Given the description of an element on the screen output the (x, y) to click on. 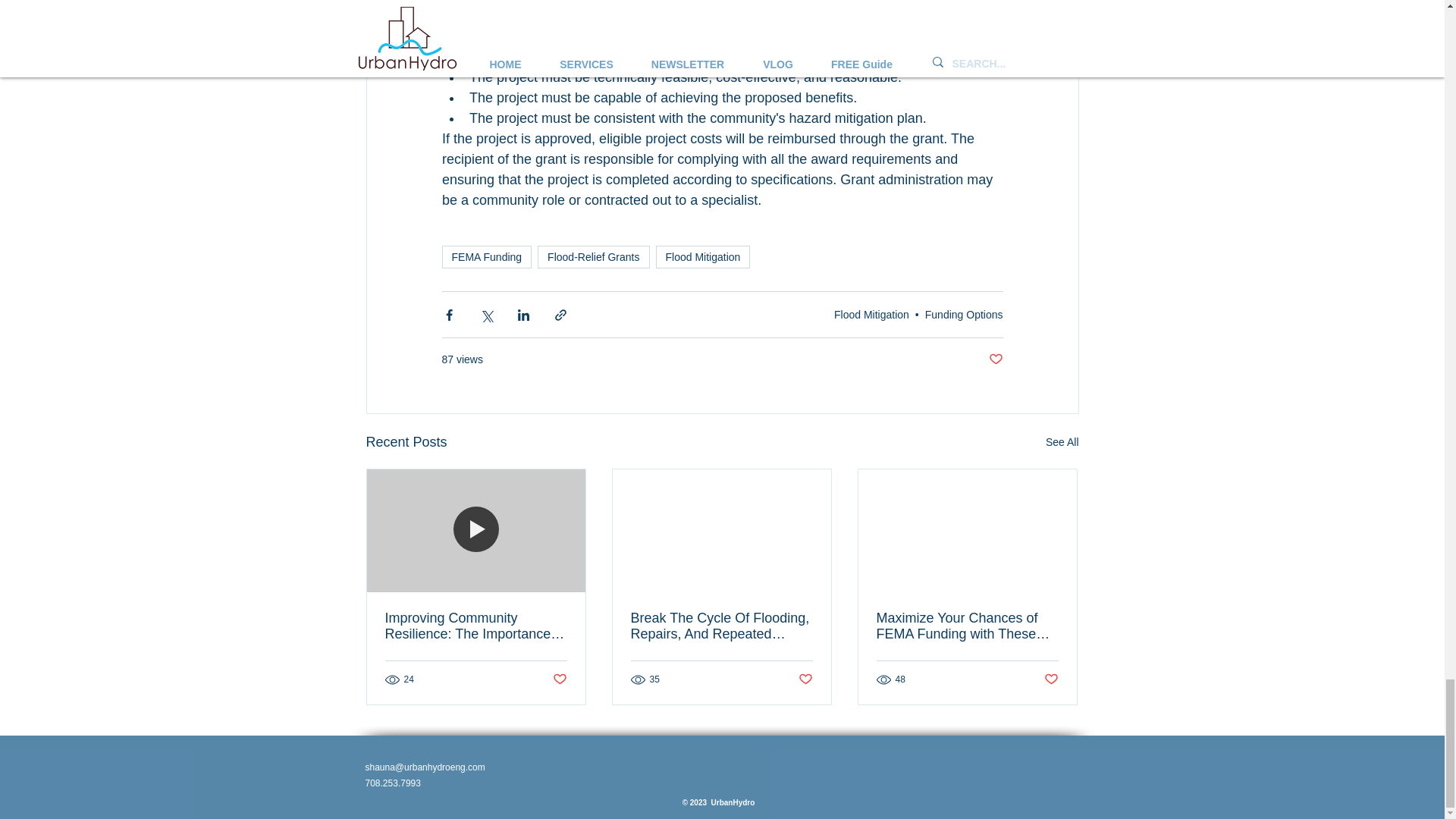
Flood-Relief Grants (593, 256)
See All (1061, 442)
FEMA Funding (486, 256)
Post not marked as liked (995, 359)
Flood Mitigation (702, 256)
Funding Options (963, 314)
Flood Mitigation (871, 314)
Post not marked as liked (558, 679)
